Given the description of an element on the screen output the (x, y) to click on. 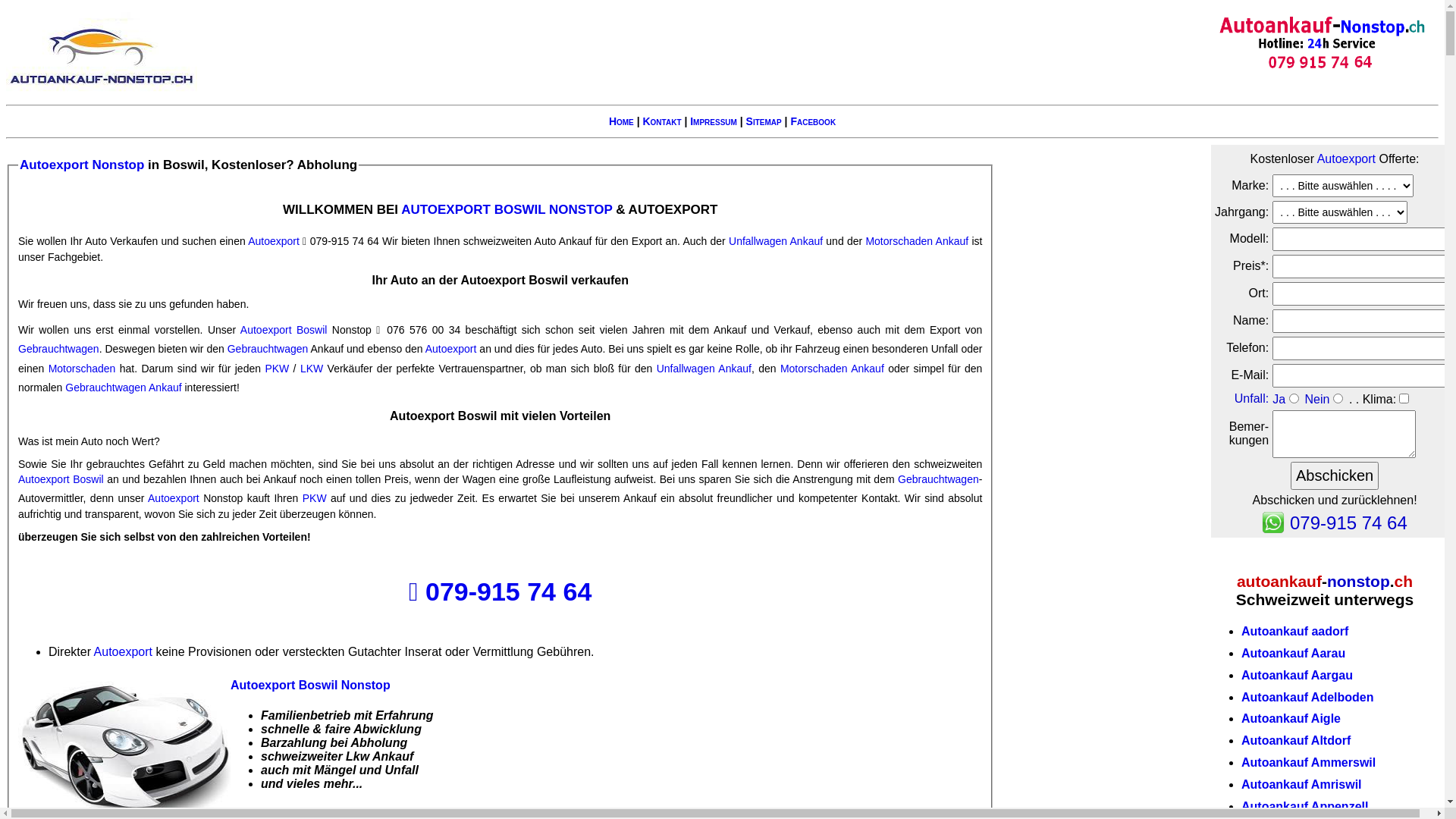
Autoankauf Appenzell Element type: text (1304, 806)
Home Element type: text (620, 121)
Autoexport Nonstop Element type: text (81, 164)
PKW Element type: text (314, 498)
AUTOEXPORT BOSWIL NONSTOP Element type: text (506, 208)
Autoankauf Amriswil Element type: text (1301, 784)
Impressum Element type: text (713, 121)
Unfallwagen Ankauf Element type: text (703, 368)
Autoankauf Aargau Element type: text (1296, 674)
Motorschaden Element type: text (82, 368)
Autoankauf Ammerswil Element type: text (1308, 762)
Motorschaden Ankauf Element type: text (916, 241)
Sitemap Element type: text (763, 121)
Autoexport Boswil Element type: text (60, 479)
Autoankauf Aarau Element type: text (1293, 652)
Kontakt Element type: text (661, 121)
Gebrauchtwagen Element type: text (58, 348)
Autoexport Boswil Nonstop Element type: text (310, 684)
Autoankauf Altdorf Element type: text (1295, 740)
LKW Element type: text (311, 368)
Autoexport Element type: text (273, 241)
Autoankauf Aigle Element type: text (1290, 718)
PKW Element type: text (276, 368)
Abschicken Element type: text (1334, 475)
Autoexport Element type: text (1346, 158)
Gebrauchtwagen Element type: text (267, 348)
Autoankauf aadorf Element type: text (1294, 630)
Autoexport Element type: text (123, 651)
Gebrauchtwagen Element type: text (938, 479)
Facebook Element type: text (812, 121)
079-915 74 64 Element type: text (508, 591)
Motorschaden Ankauf Element type: text (832, 368)
Gebrauchtwagen Ankauf Element type: text (123, 387)
Autoexport Boswil Element type: text (283, 329)
Autoexport Element type: text (450, 348)
Autoexport Element type: text (173, 498)
Unfallwagen Ankauf Element type: text (775, 241)
Autoankauf Adelboden Element type: text (1307, 696)
